Given the description of an element on the screen output the (x, y) to click on. 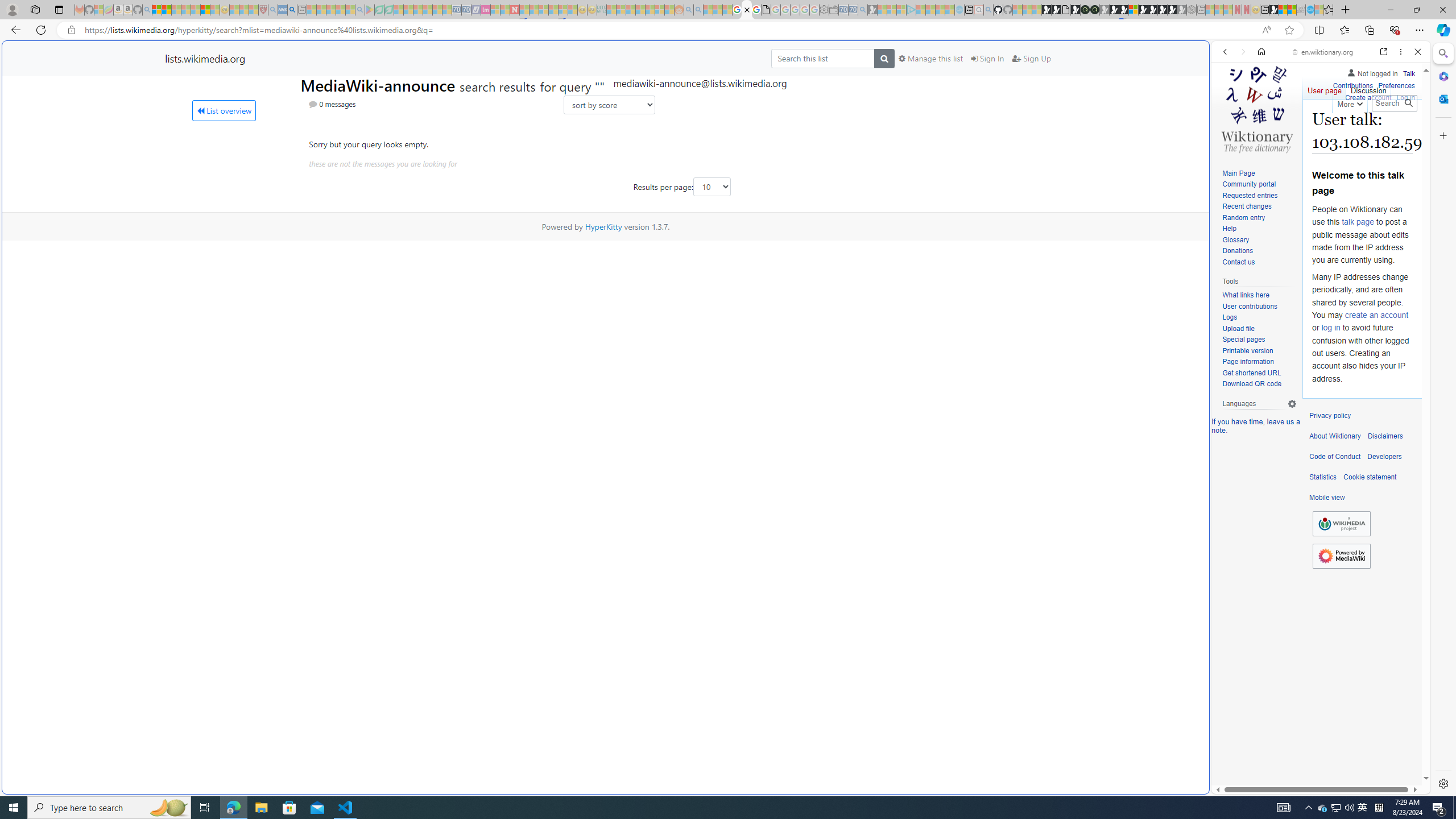
Search or enter web address (922, 108)
Code of Conduct (1334, 456)
Search Filter, IMAGES (1262, 129)
Community portal (1259, 184)
Powered by MediaWiki (1341, 556)
Class: form-control input-sm (711, 186)
MSNBC - MSN - Sleeping (611, 9)
SEARCH TOOLS (1350, 130)
Talk (1408, 73)
Random entry (1243, 216)
